Given the description of an element on the screen output the (x, y) to click on. 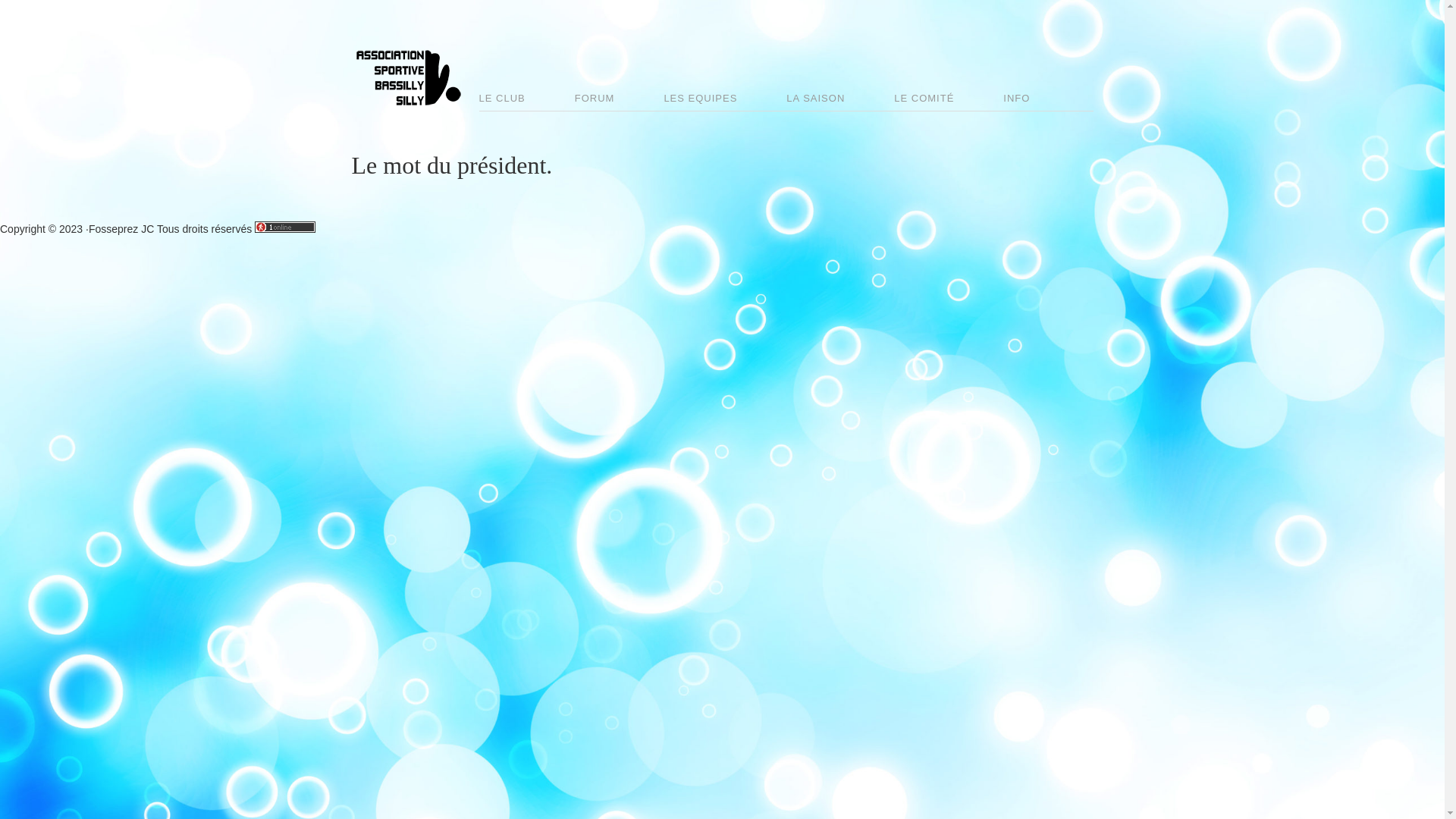
INFO Element type: text (1039, 99)
LE CLUB Element type: text (525, 99)
LA SAISON Element type: text (838, 99)
FORUM Element type: text (617, 99)
Click to see what's popular on this site! Element type: hover (284, 226)
LES EQUIPES Element type: text (722, 99)
